Given the description of an element on the screen output the (x, y) to click on. 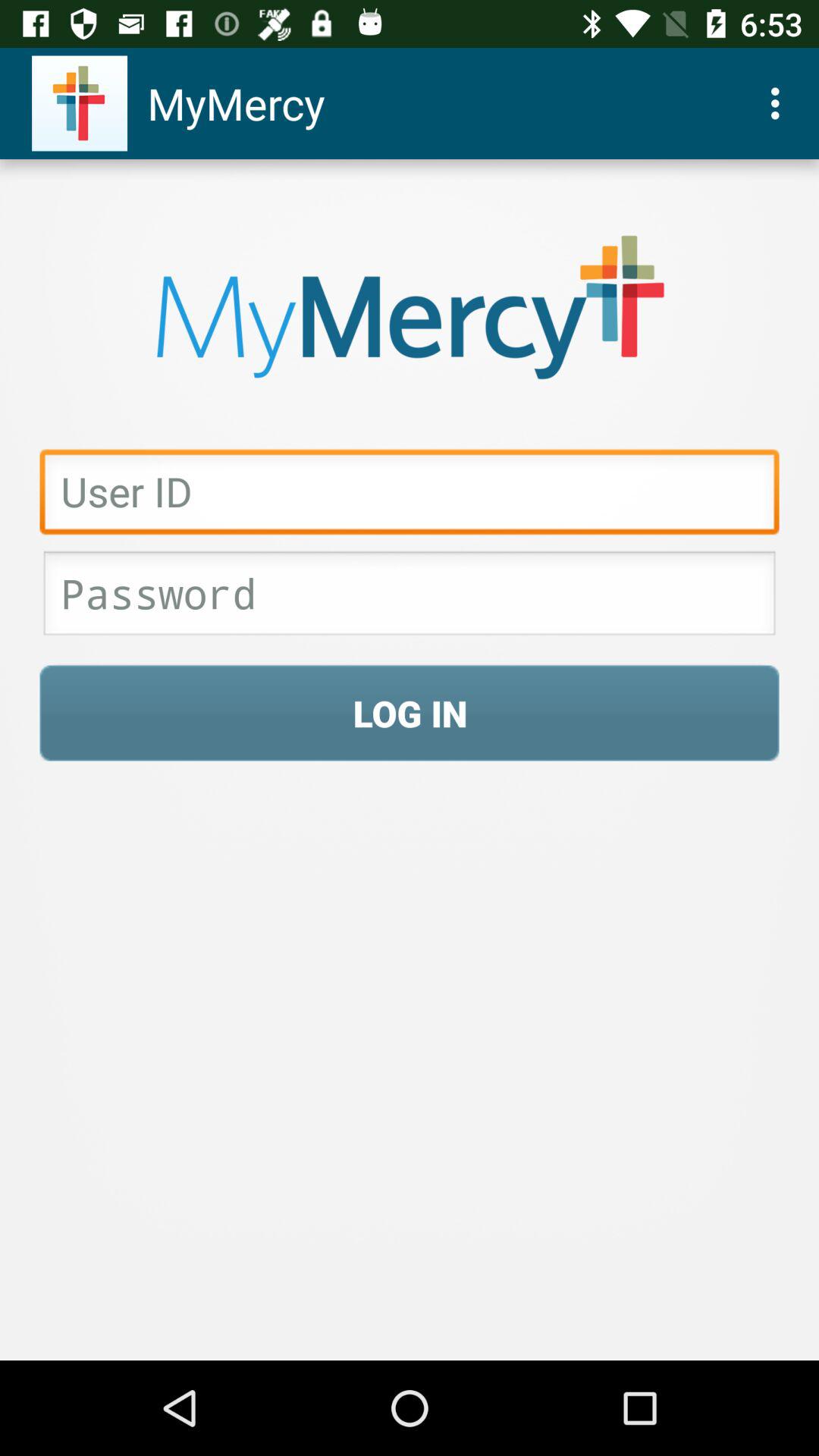
enter user id (409, 495)
